Given the description of an element on the screen output the (x, y) to click on. 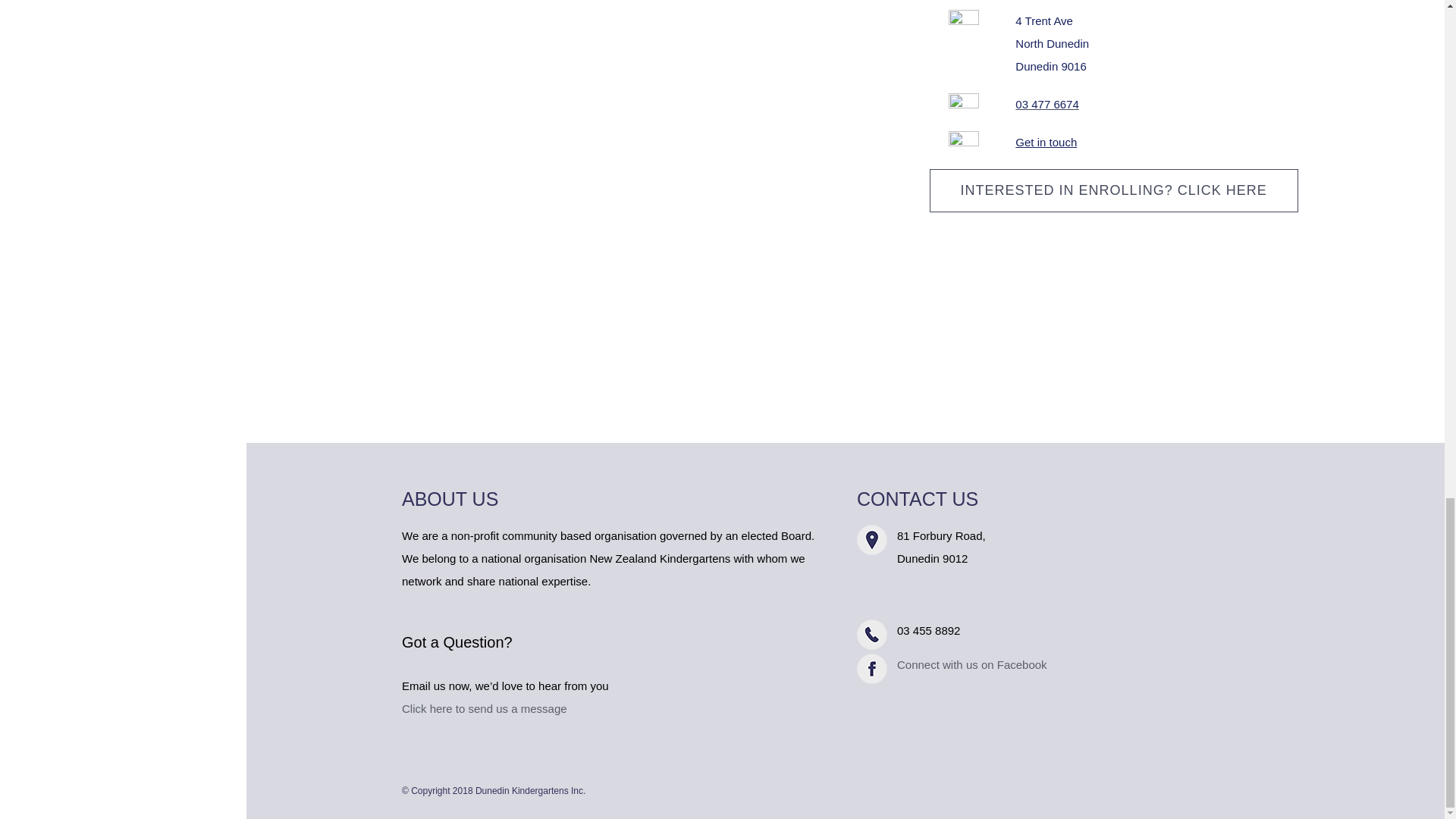
Click here to send us a message (484, 707)
Get in touch (1045, 141)
Connect with us on Facebook (971, 664)
03 477 6674 (1051, 43)
INTERESTED IN ENROLLING? CLICK HERE (1046, 103)
